Given the description of an element on the screen output the (x, y) to click on. 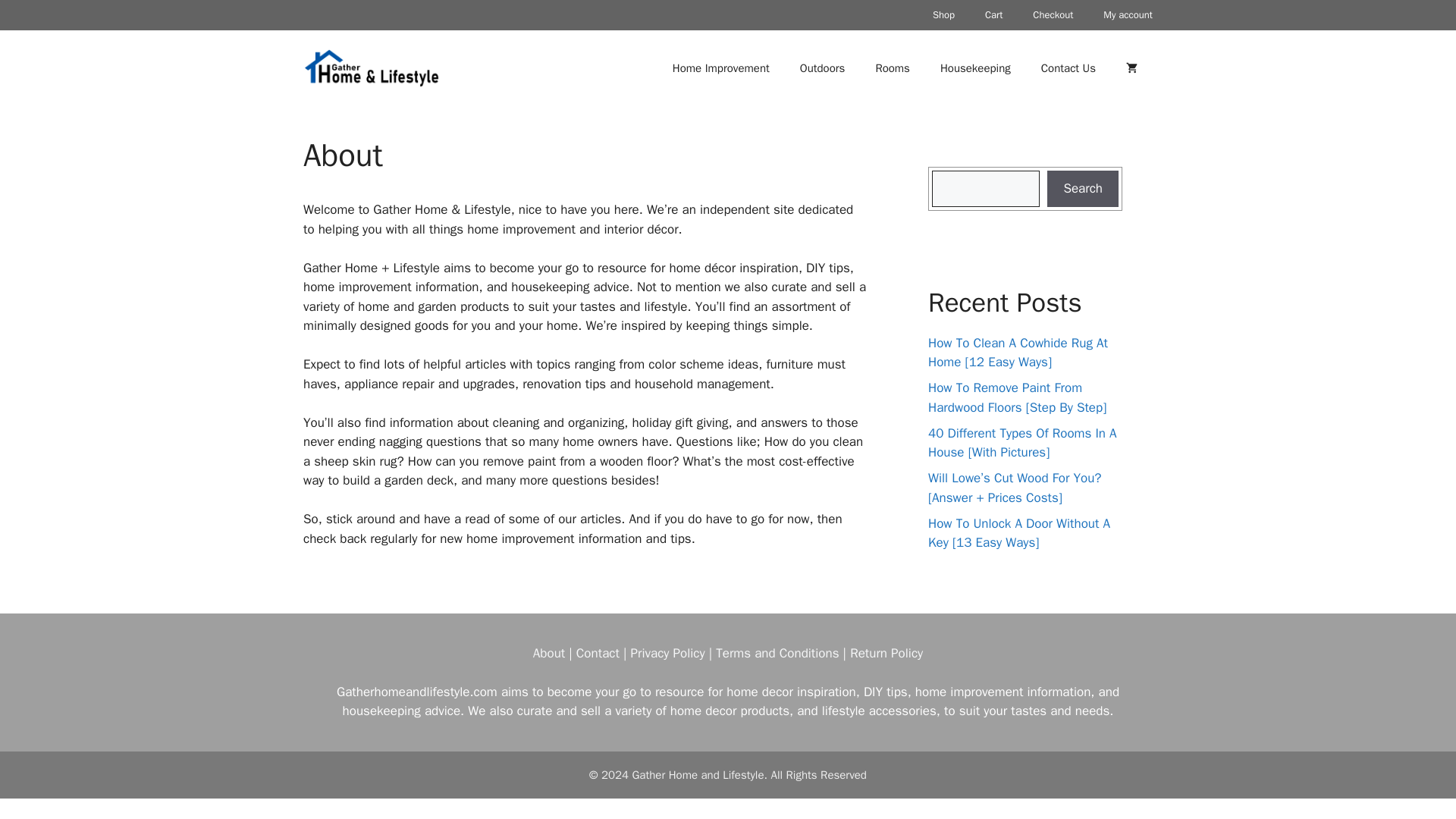
Outdoors (822, 67)
Contact (598, 652)
Housekeeping (975, 67)
Terms and Conditions (777, 652)
Cart (993, 15)
Checkout (1052, 15)
Return Policy (886, 652)
Search (1082, 188)
My account (1127, 15)
Shop (943, 15)
